Given the description of an element on the screen output the (x, y) to click on. 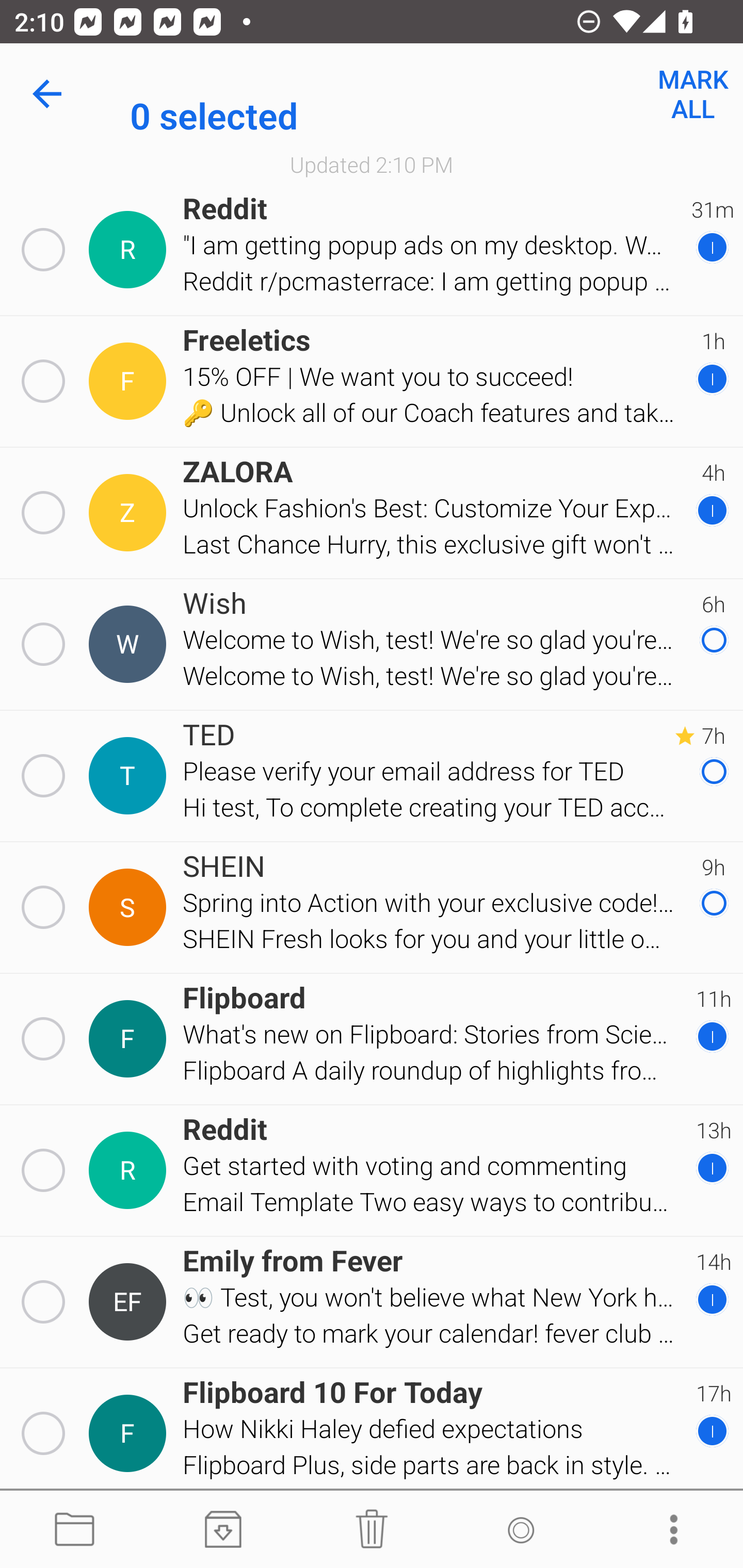
Done (50, 93)
MARK
ALL (692, 93)
Updated 2:10 PM (371, 164)
Contact Details (129, 250)
Contact Details (129, 381)
Contact Details (129, 513)
Contact Details (129, 644)
Contact Details (129, 776)
Contact Details (129, 907)
Contact Details (129, 1038)
Contact Details (129, 1170)
Contact Details (129, 1302)
Contact Details (129, 1433)
Move (74, 1529)
Archive (222, 1529)
Delete (371, 1529)
Mark as Read (520, 1529)
More Options (668, 1529)
